Given the description of an element on the screen output the (x, y) to click on. 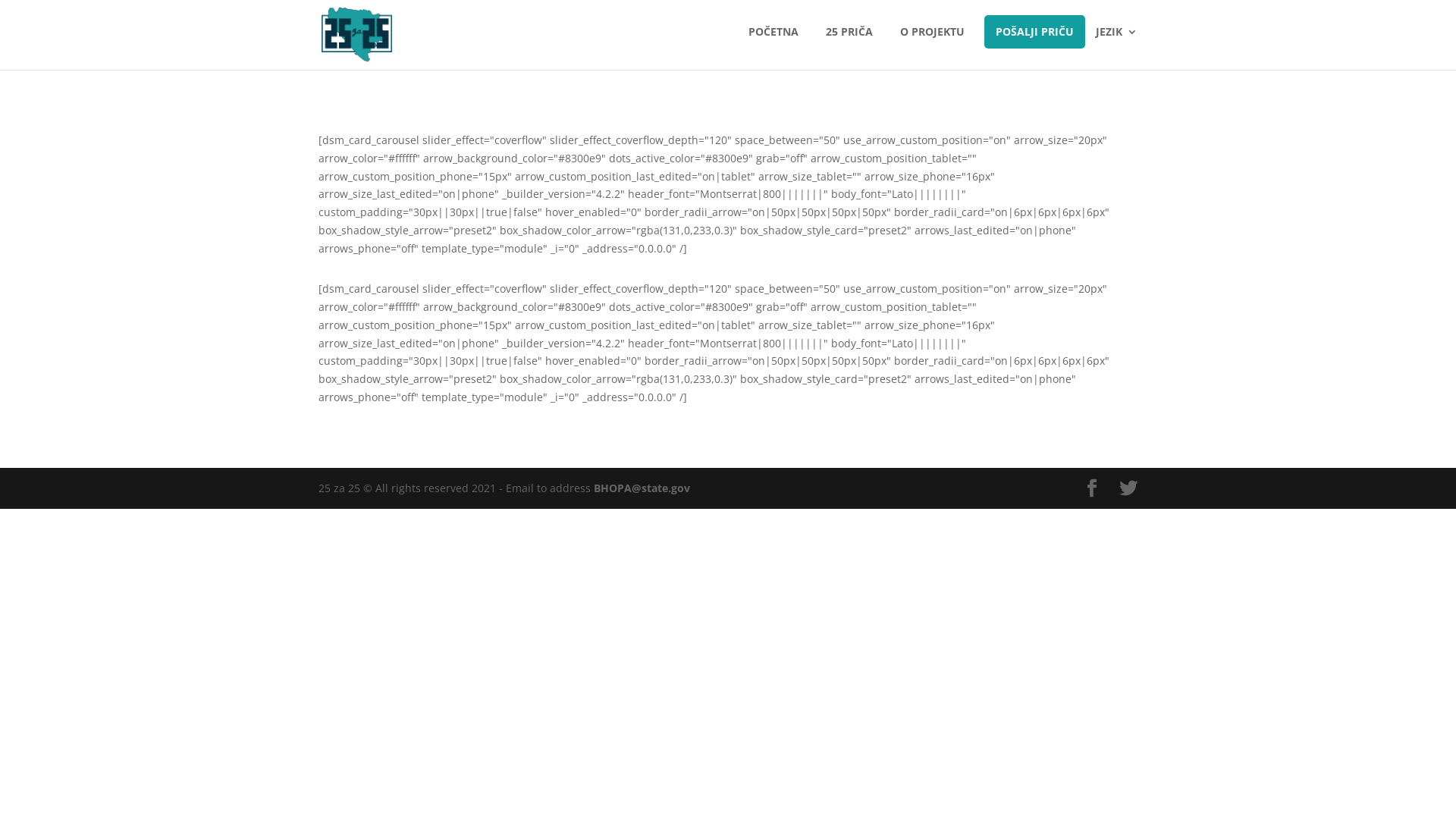
JEZIK Element type: text (1112, 44)
O PROJEKTU Element type: text (928, 44)
BHOPA@state.gov Element type: text (641, 487)
